Given the description of an element on the screen output the (x, y) to click on. 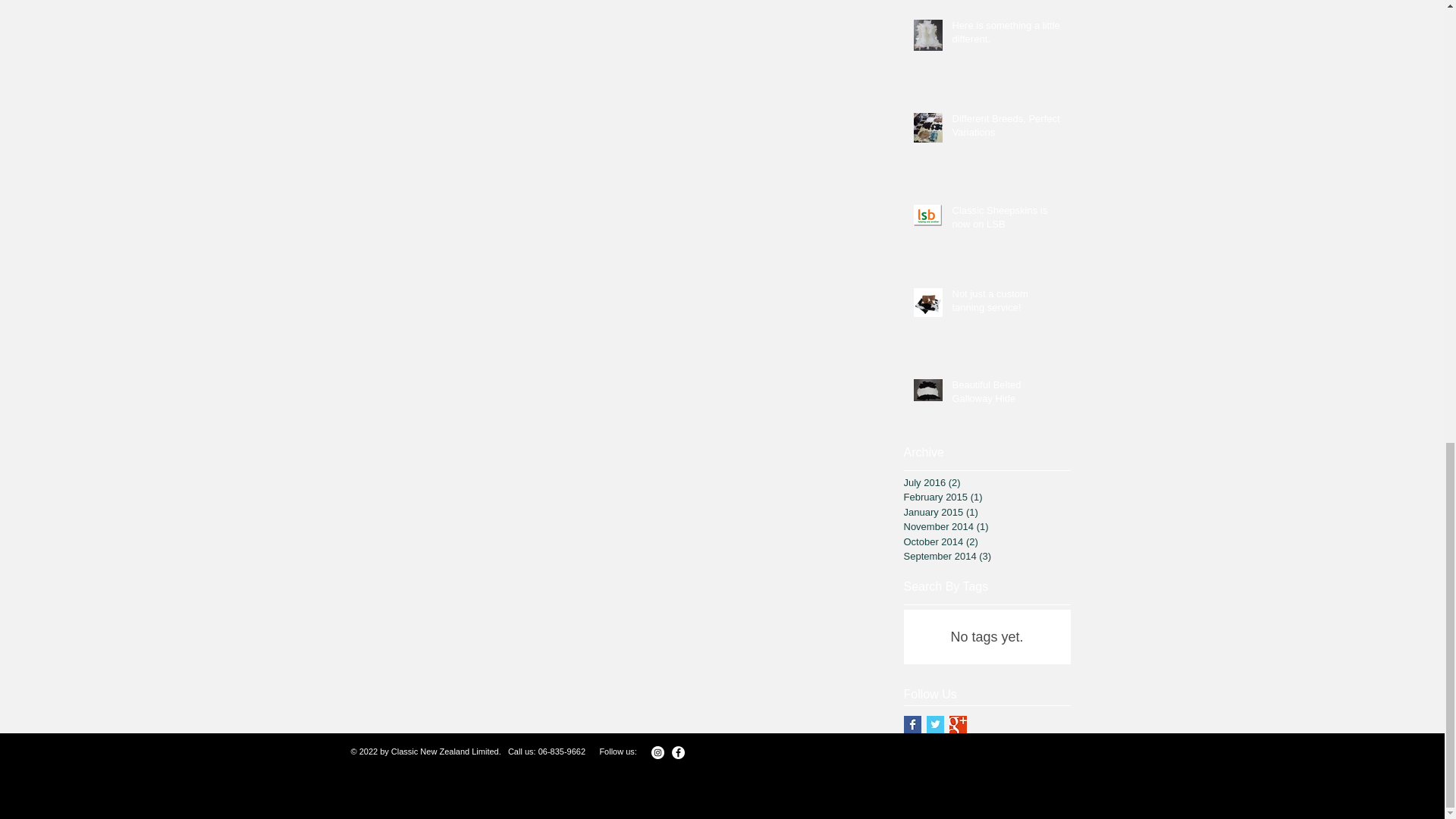
Different Breeds, Perfect Variations (1006, 128)
Beautiful Belted Galloway Hide (1006, 394)
Not just a custom tanning service! (1006, 304)
Classic Sheepskins is now on LSB (1006, 220)
Here is something a little different. (1006, 35)
